Given the description of an element on the screen output the (x, y) to click on. 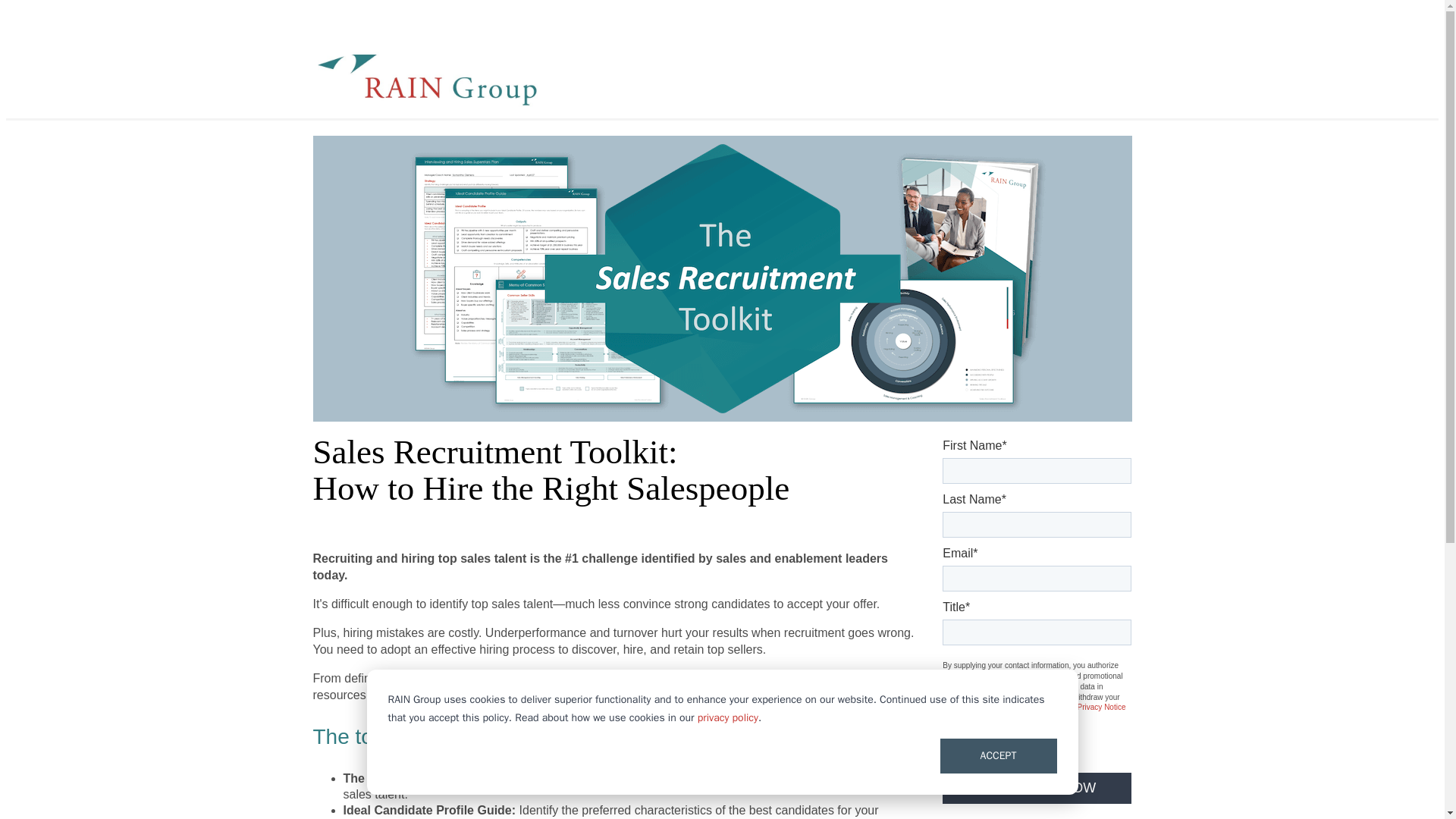
Privacy Notice (1101, 706)
true (950, 744)
DOWNLOAD NOW (1036, 788)
DOWNLOAD NOW (1036, 788)
